Given the description of an element on the screen output the (x, y) to click on. 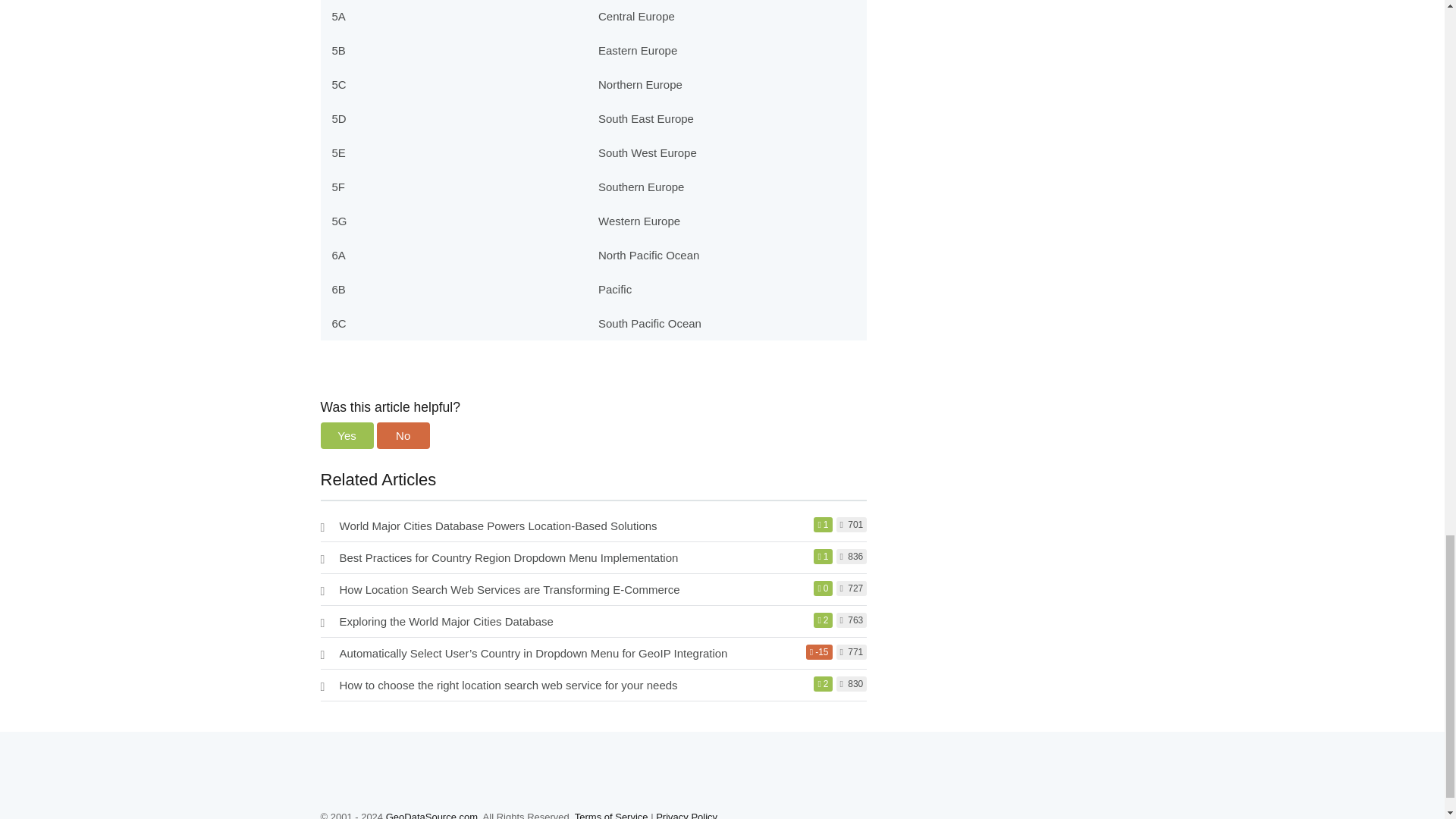
How Location Search Web Services are Transforming E-Commerce (509, 589)
Yes (346, 435)
World Major Cities Database Powers Location-Based Solutions (498, 525)
No (403, 435)
Exploring the World Major Cities Database (446, 621)
World Major Cities Database Powers Location-Based Solutions (498, 525)
